Given the description of an element on the screen output the (x, y) to click on. 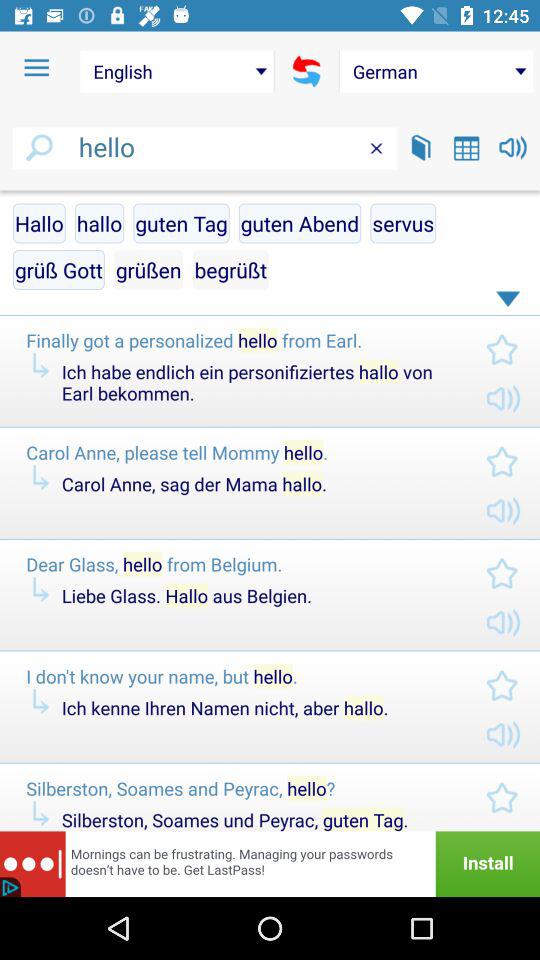
go to a calendar (466, 148)
